Given the description of an element on the screen output the (x, y) to click on. 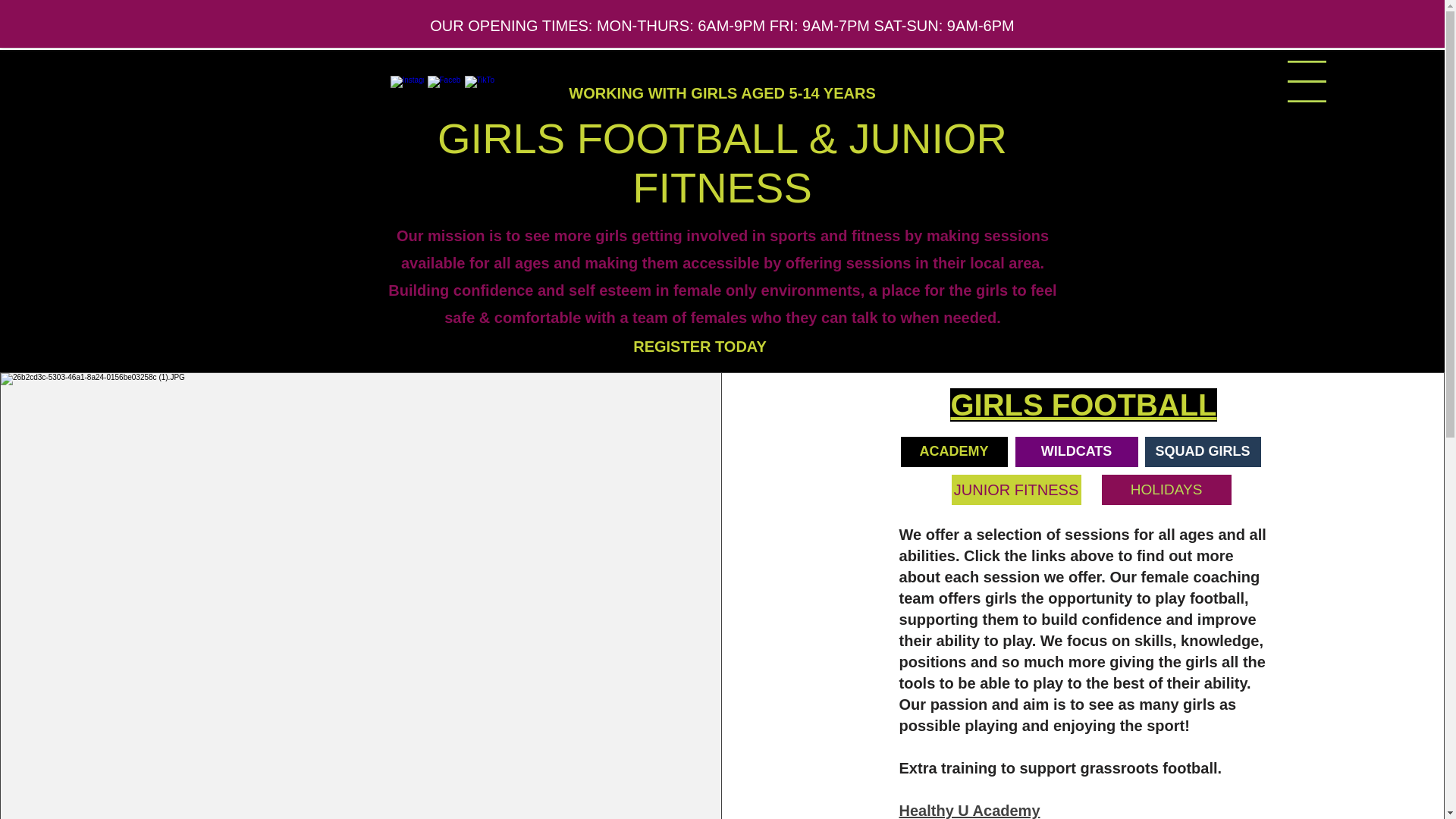
ACADEMY (954, 451)
SQUAD GIRLS (1202, 451)
HOLIDAYS (1166, 490)
REGISTER TODAY (699, 346)
JUNIOR FITNESS (1016, 490)
WILDCATS (1076, 451)
